Given the description of an element on the screen output the (x, y) to click on. 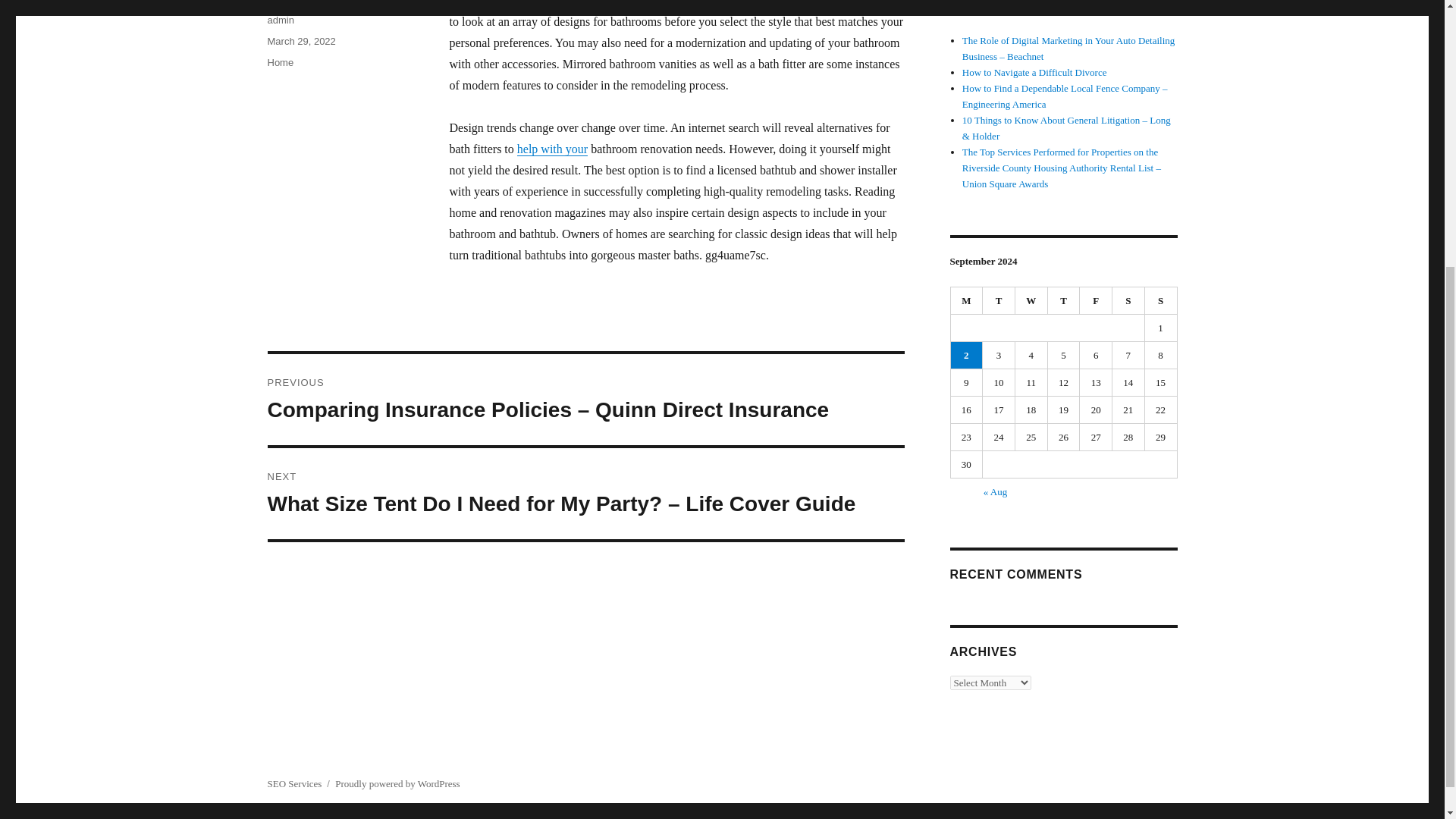
Friday (1096, 300)
Home (280, 61)
Monday (967, 300)
Tuesday (998, 300)
admin (280, 19)
How to Navigate a Difficult Divorce (1034, 71)
Proudly powered by WordPress (397, 783)
Wednesday (1031, 300)
March 29, 2022 (300, 41)
SEO Services (293, 783)
